Given the description of an element on the screen output the (x, y) to click on. 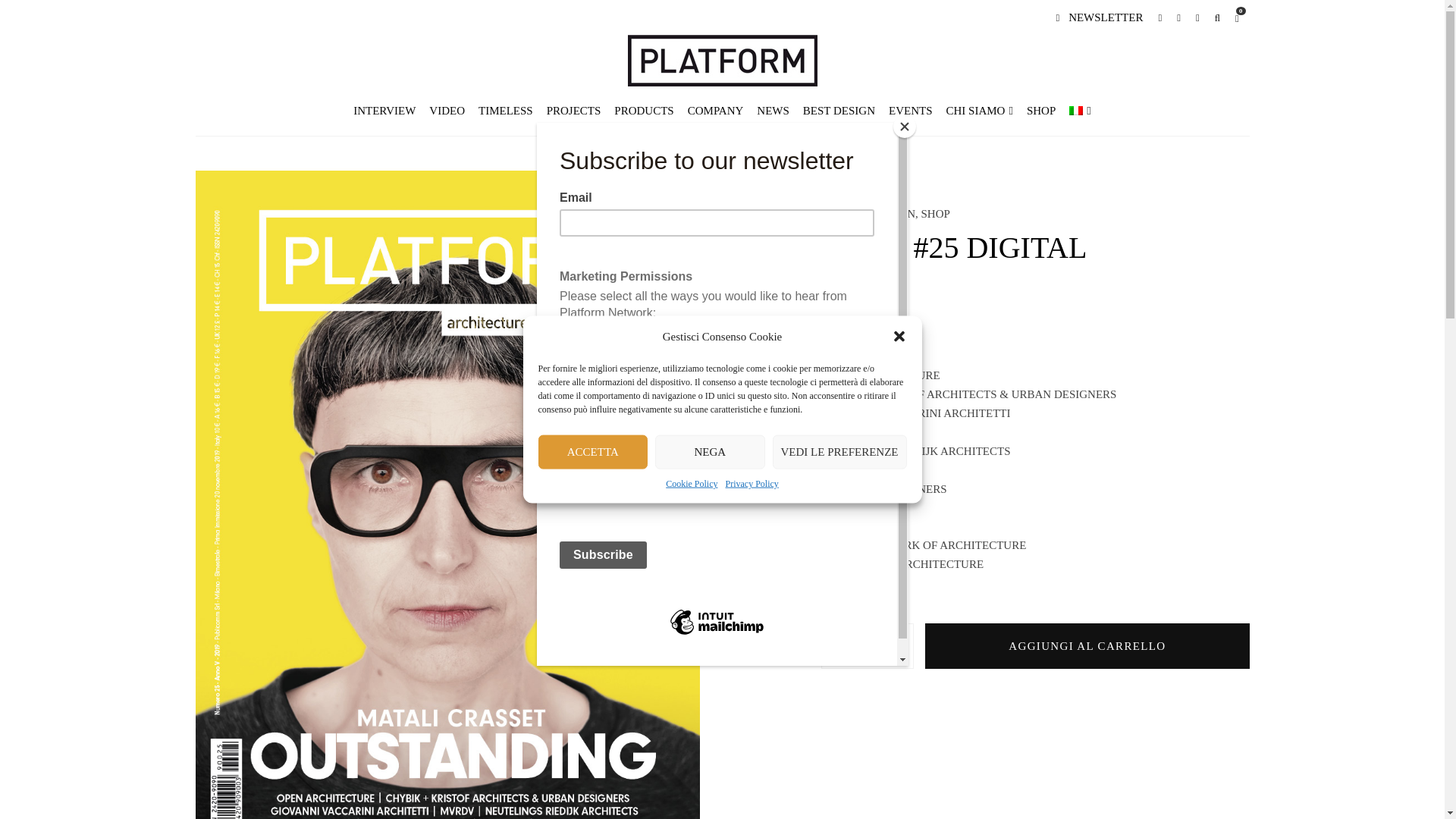
ACCETTA (592, 451)
Cookie Policy (691, 483)
VEDI LE PREFERENZE (838, 451)
NEGA (710, 451)
NEWSLETTER (1099, 17)
1 (866, 646)
PayPal (1035, 722)
VIDEO (446, 110)
TIMELESS (505, 110)
INTERVIEW (384, 110)
Privacy Policy (751, 483)
